Given the description of an element on the screen output the (x, y) to click on. 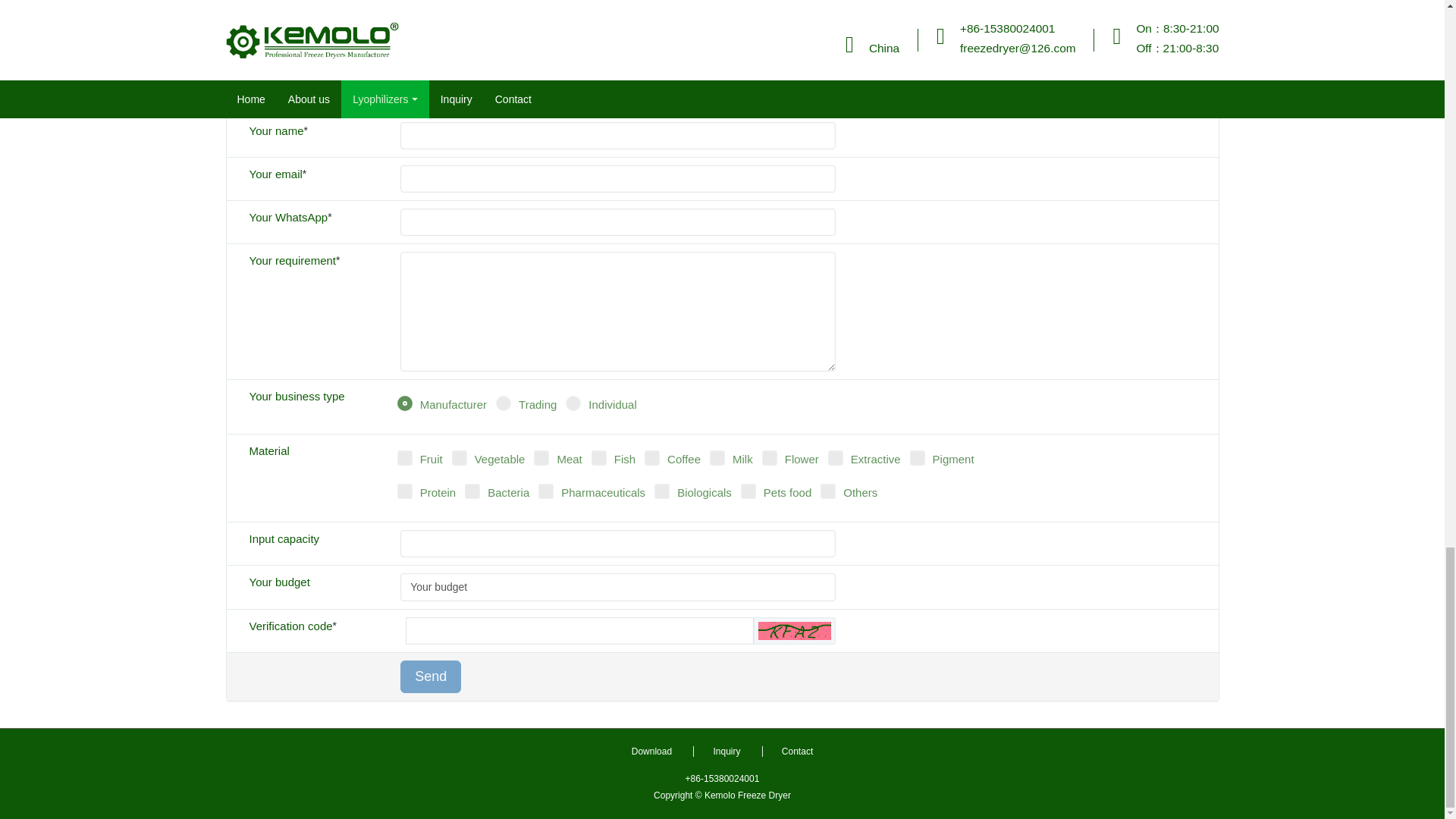
Download (651, 751)
fruit freeze dryer (337, 2)
Inquiry (725, 751)
Download (651, 751)
Inquiry (725, 751)
fruit freeze dryer (337, 2)
Send (430, 676)
Contact (796, 751)
Can (794, 630)
Contact (796, 751)
